Given the description of an element on the screen output the (x, y) to click on. 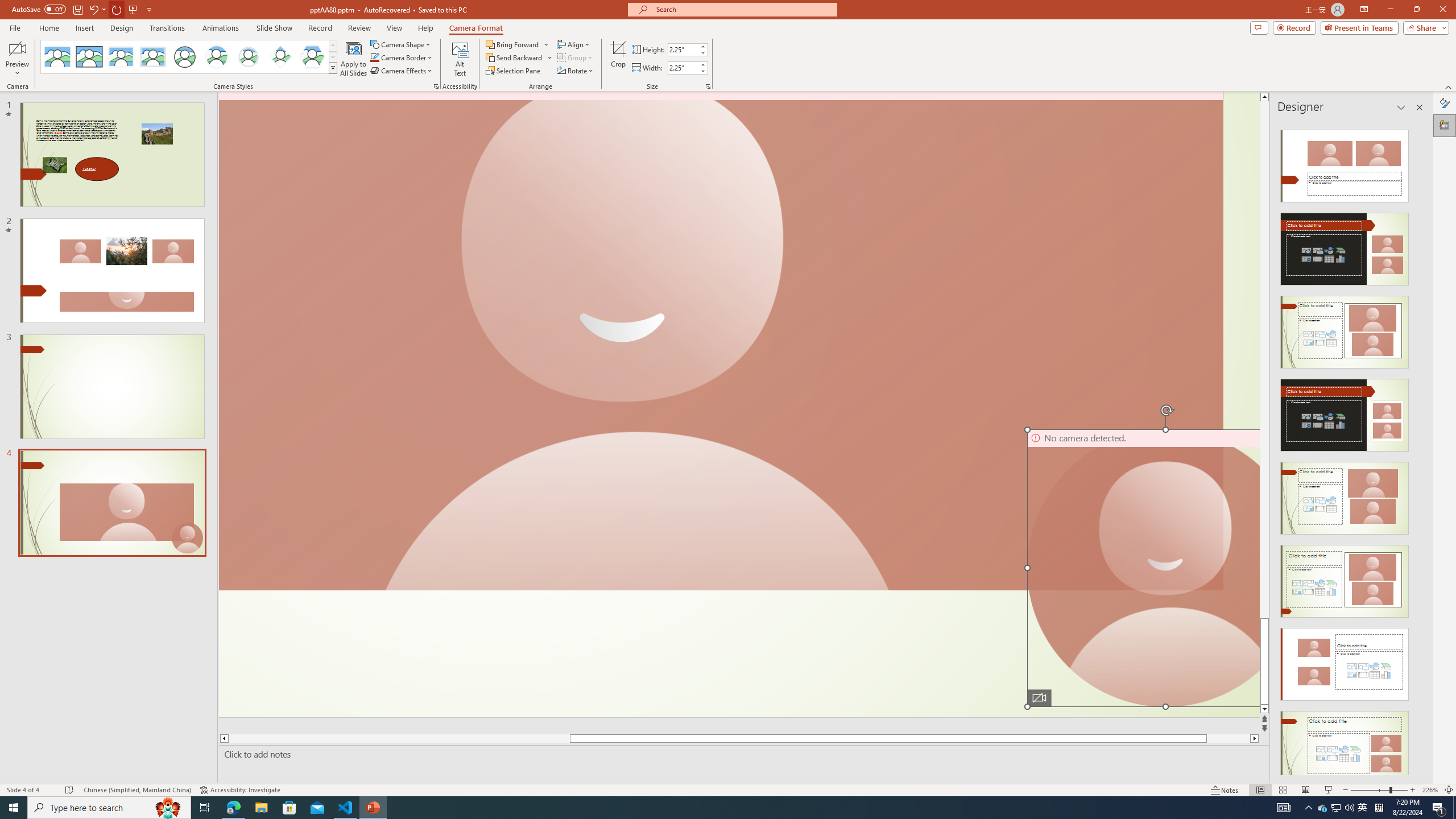
Center Shadow Hexagon (312, 56)
Simple Frame Circle (184, 56)
Camera Format (475, 28)
Camera Styles (333, 67)
Bring Forward (513, 44)
